Given the description of an element on the screen output the (x, y) to click on. 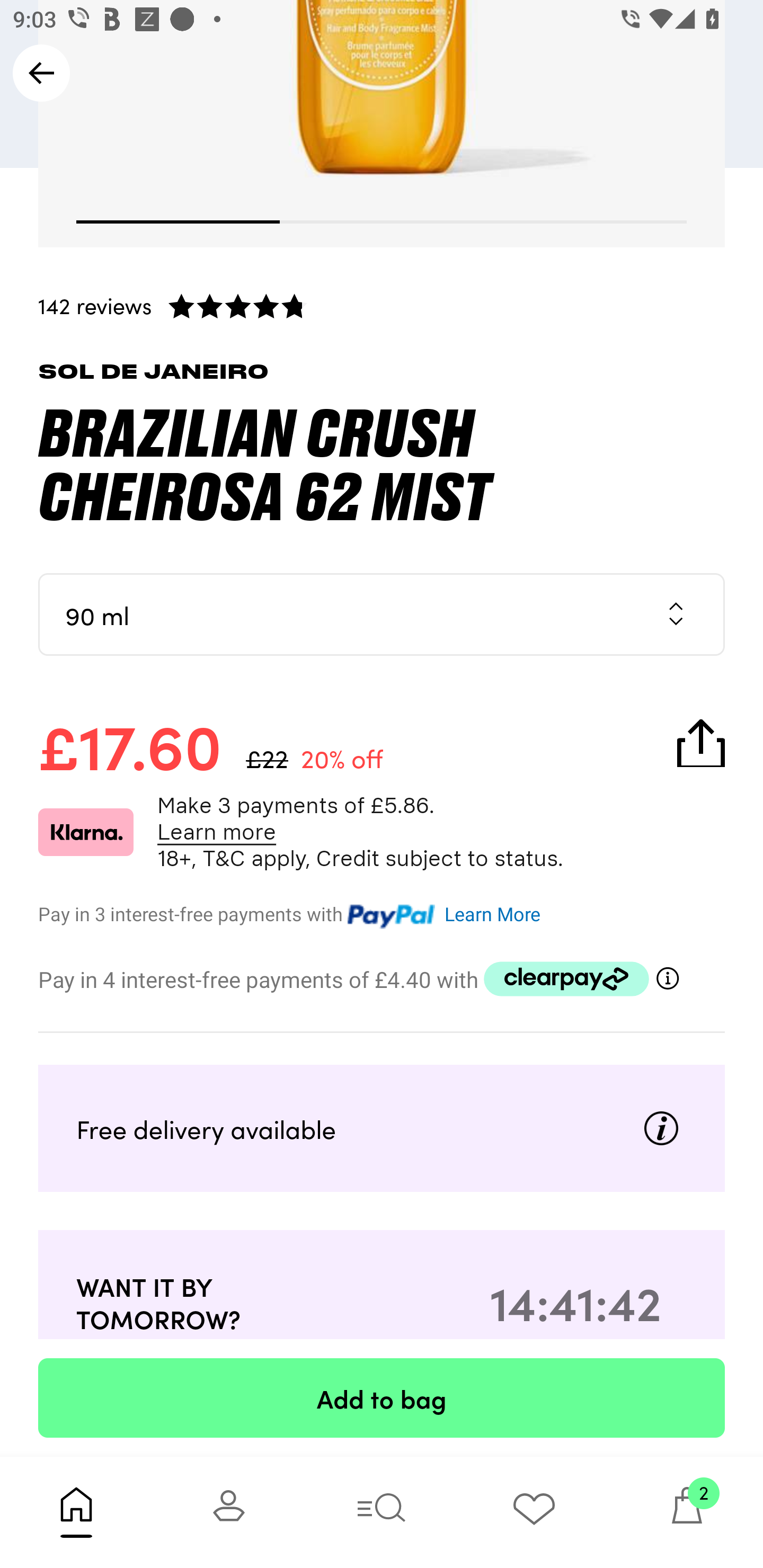
142 reviews (381, 304)
90 ml  (381, 614)
Pay in 3 interest-free payments with 0  Learn More (381, 911)
 (668, 978)
Add to bag (381, 1397)
2 (686, 1512)
